Given the description of an element on the screen output the (x, y) to click on. 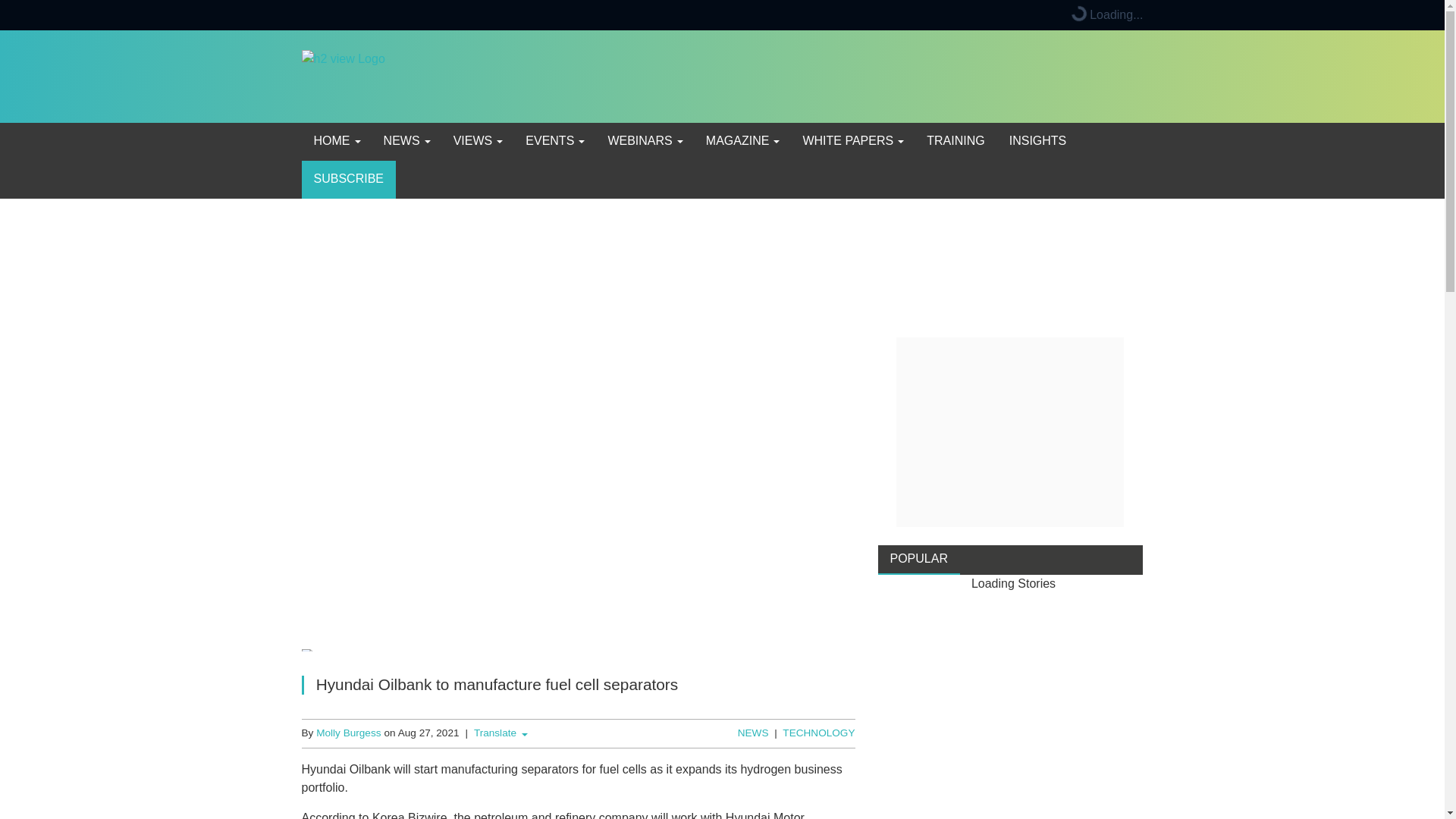
News (406, 140)
NEWS (406, 140)
VIEWS (477, 140)
HOME (336, 140)
H2 View (343, 74)
Home (336, 140)
